Given the description of an element on the screen output the (x, y) to click on. 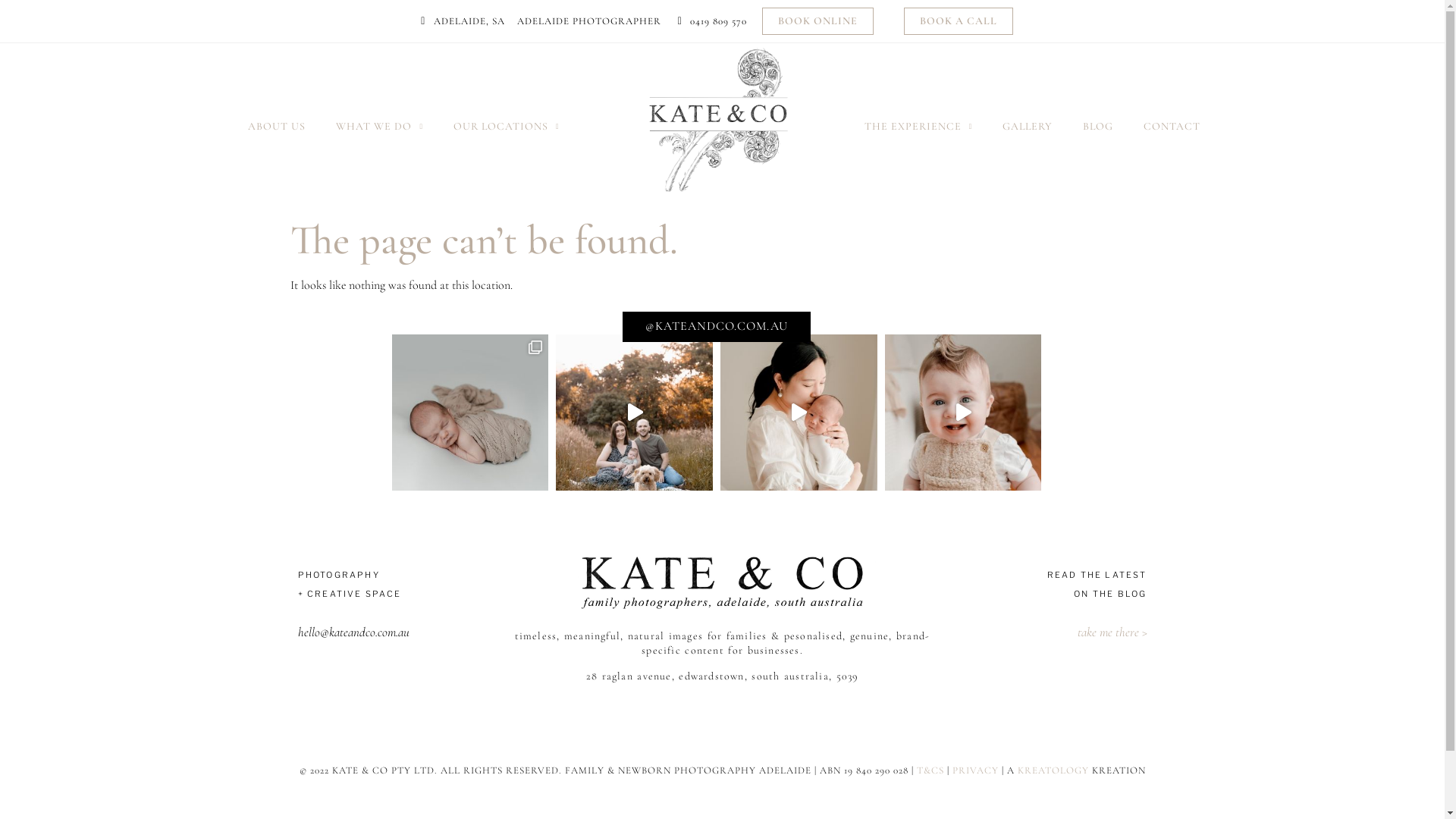
take me there > Element type: text (1111, 632)
BLOG Element type: text (1097, 126)
OUR LOCATIONS Element type: text (506, 126)
KREATOLOGY Element type: text (1052, 770)
T&CS Element type: text (929, 770)
WHAT WE DO Element type: text (379, 126)
BOOK A CALL Element type: text (958, 20)
PRIVACY Element type: text (975, 770)
CONTACT Element type: text (1171, 126)
GALLERY Element type: text (1027, 126)
BOOK ONLINE Element type: text (817, 20)
kate and co proselect logo Element type: hover (721, 582)
ABOUT US Element type: text (276, 126)
THE EXPERIENCE Element type: text (918, 126)
@KATEANDCO.COM.AU Element type: text (716, 325)
